Given the description of an element on the screen output the (x, y) to click on. 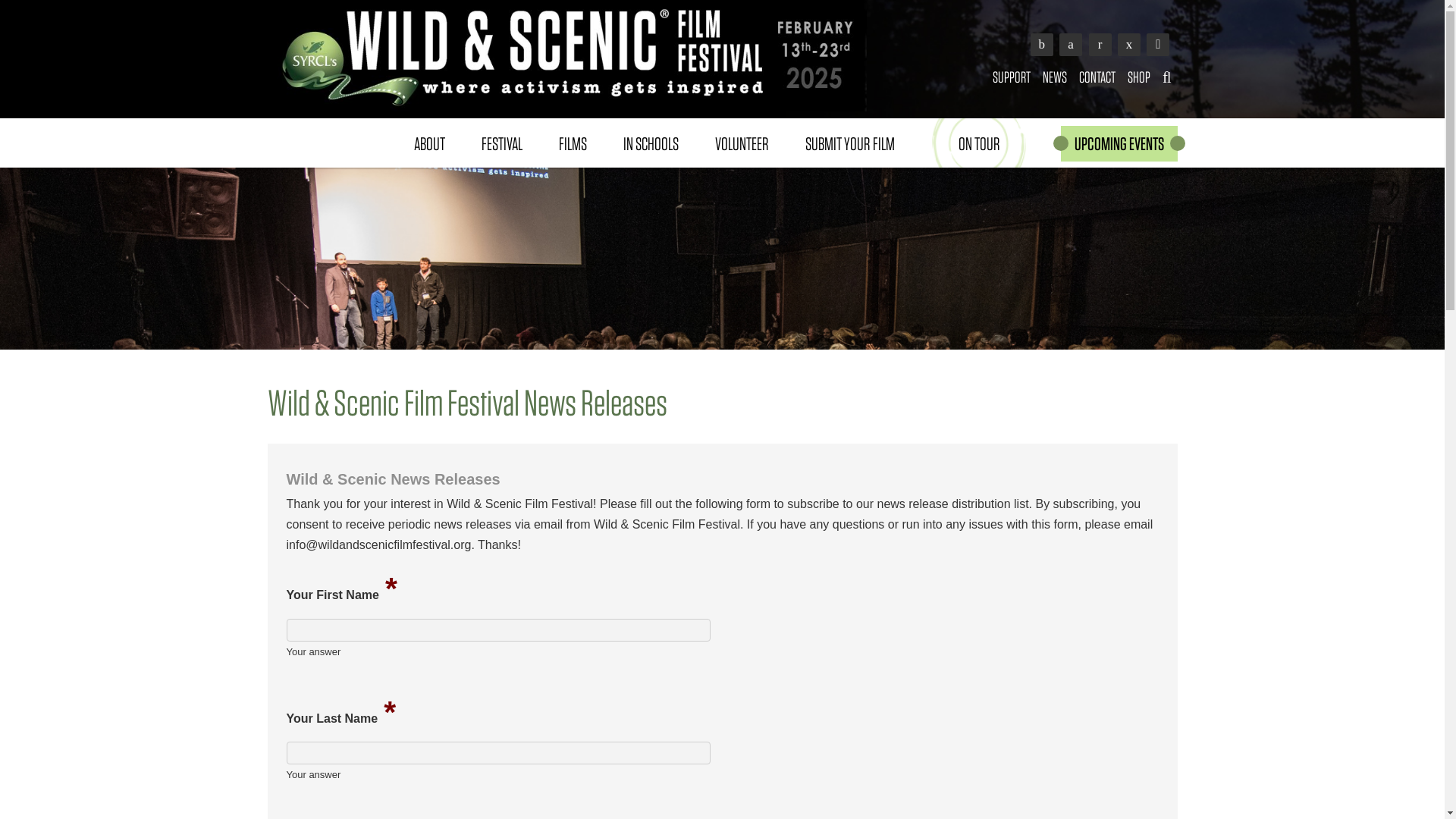
VOLUNTEER (740, 142)
UPCOMING EVENTS (1117, 143)
CONTACT (1097, 76)
SHOP (1138, 76)
FESTIVAL (501, 142)
SUPPORT (1011, 76)
NEWS (1054, 76)
SUBMIT YOUR FILM (849, 142)
ABOUT (429, 142)
IN SCHOOLS (651, 142)
